Given the description of an element on the screen output the (x, y) to click on. 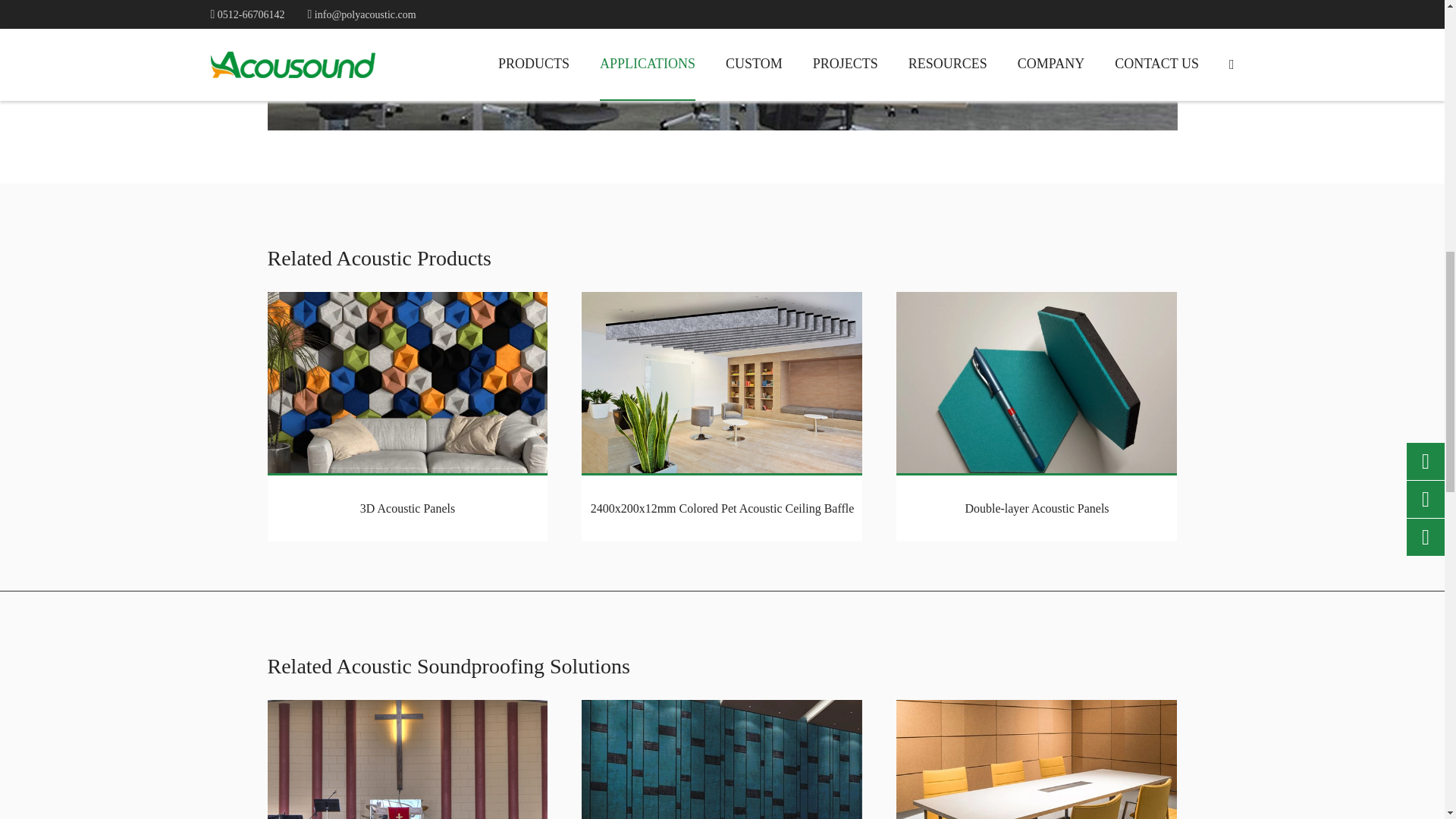
Acoustic Panels for Office (721, 65)
2400x200x12mm Colored Pet Acoustic Ceiling Baffle (720, 382)
3D Acoustic Panels (406, 382)
Meeting Room (1036, 759)
Double-layer Acoustic Panels (1036, 382)
